Given the description of an element on the screen output the (x, y) to click on. 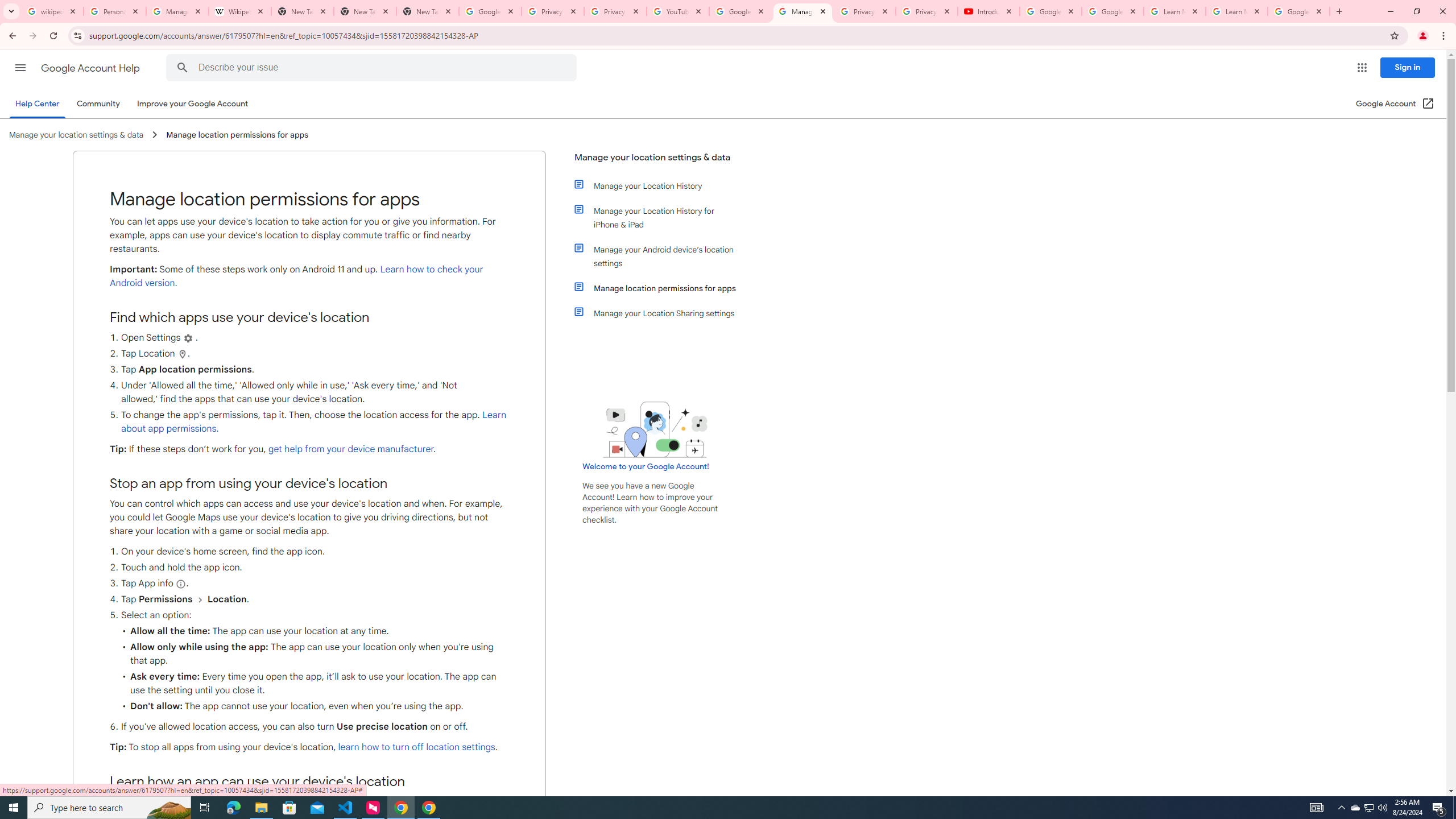
New Tab (427, 11)
Wikipedia:Edit requests - Wikipedia (239, 11)
Manage your Location History (661, 185)
Google Account Help (91, 68)
Help Center (36, 103)
YouTube (678, 11)
Google Account Help (1050, 11)
Learn how to check your Android version (296, 276)
